Given the description of an element on the screen output the (x, y) to click on. 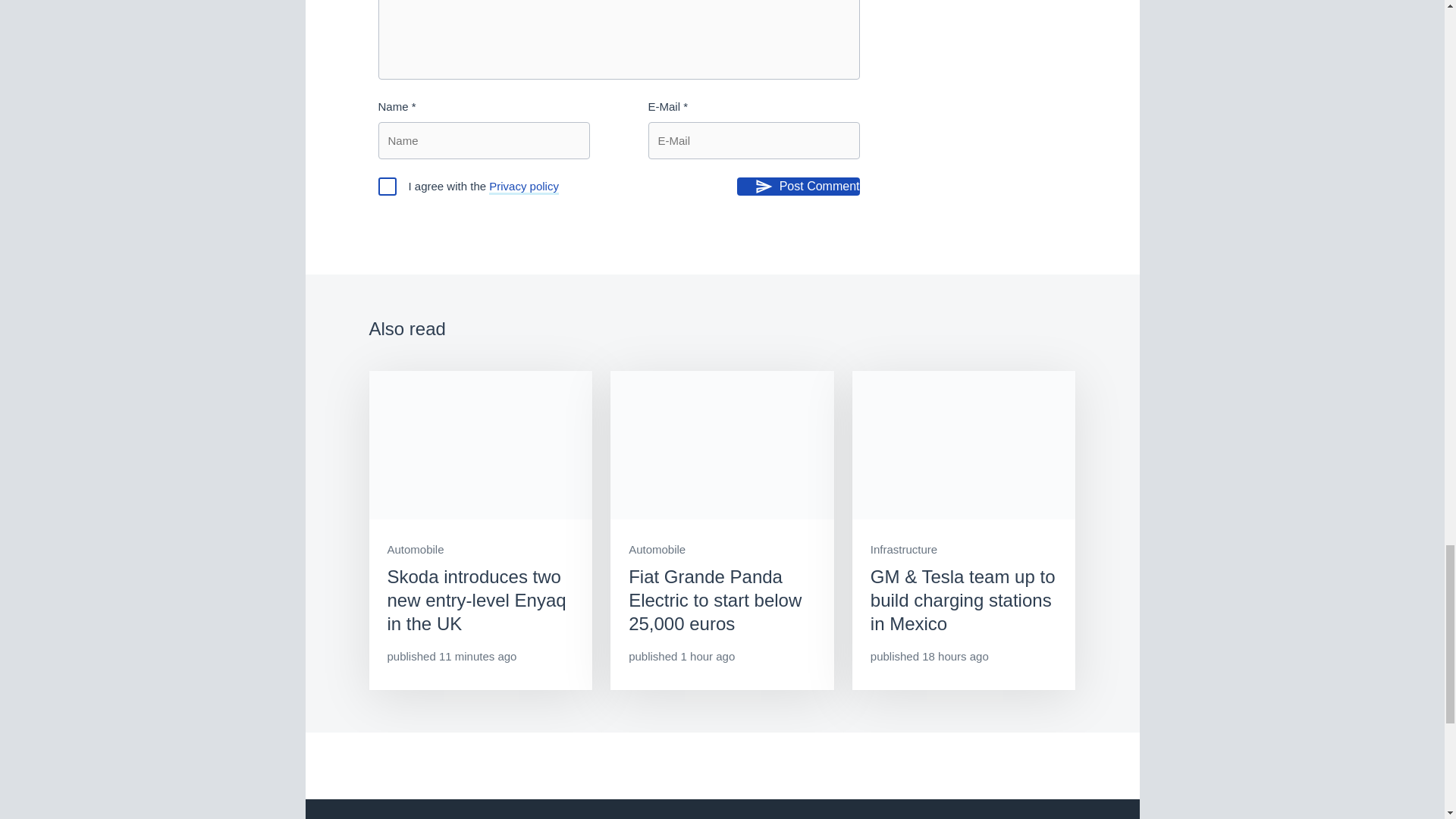
Skoda introduces two new entry-level Enyaq in the UK (480, 530)
Post Comment (798, 186)
Fiat Grande Panda Electric to start below 25,000 euros (722, 530)
